Given the description of an element on the screen output the (x, y) to click on. 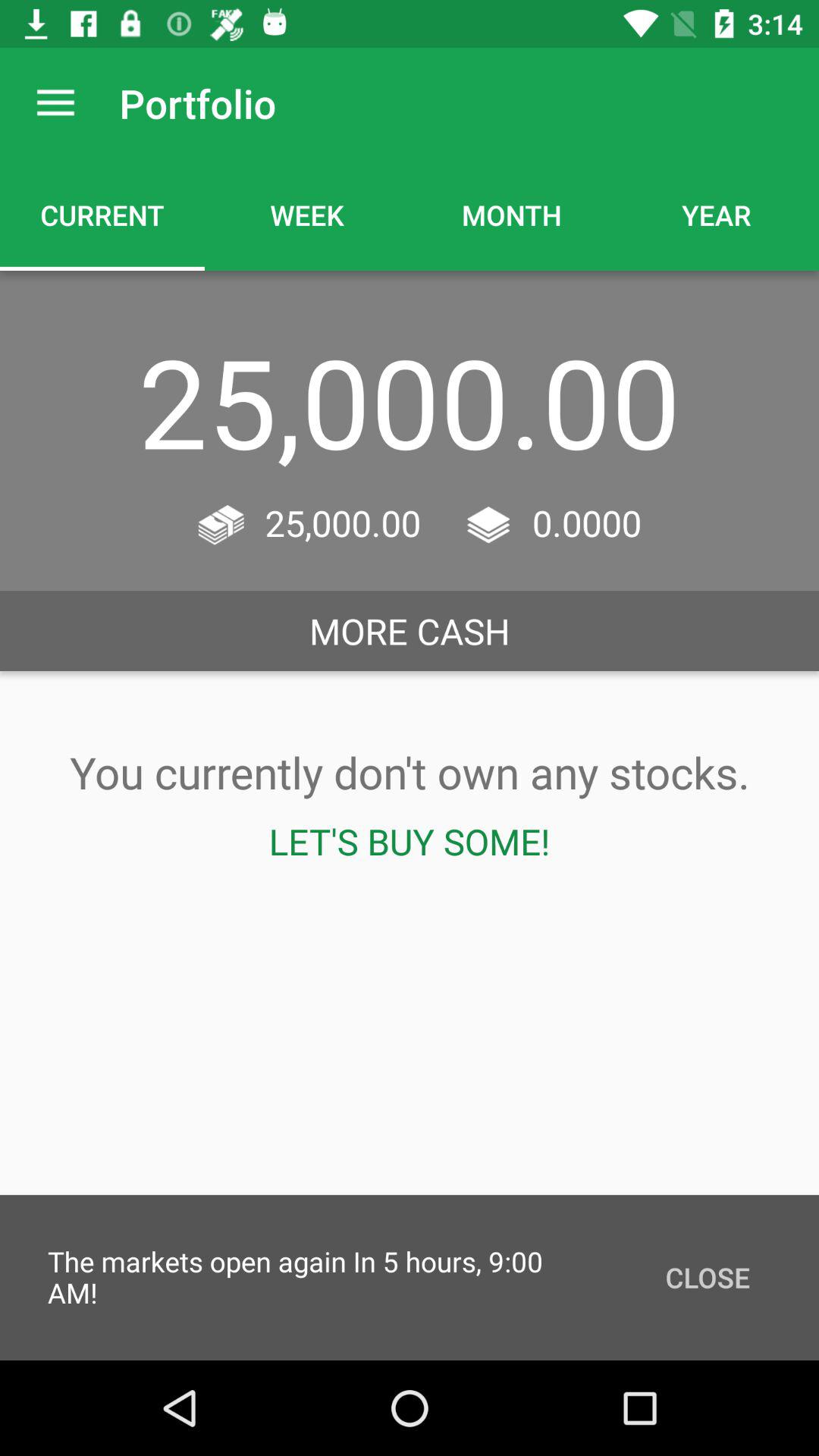
tap icon next to the portfolio app (55, 103)
